Given the description of an element on the screen output the (x, y) to click on. 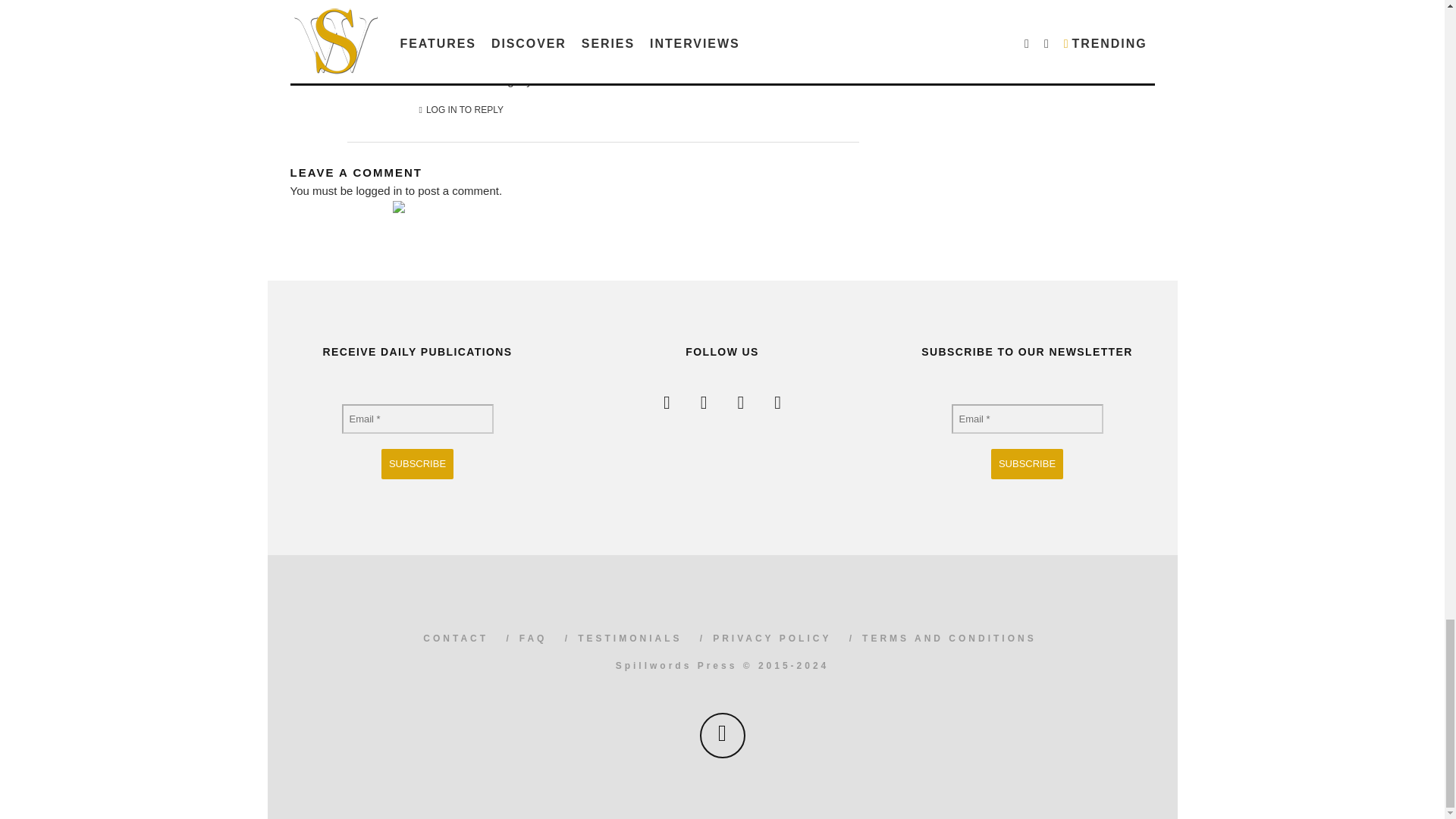
Subscribe (416, 463)
Connect with WordPress (425, 217)
Subscribe (1026, 463)
